Given the description of an element on the screen output the (x, y) to click on. 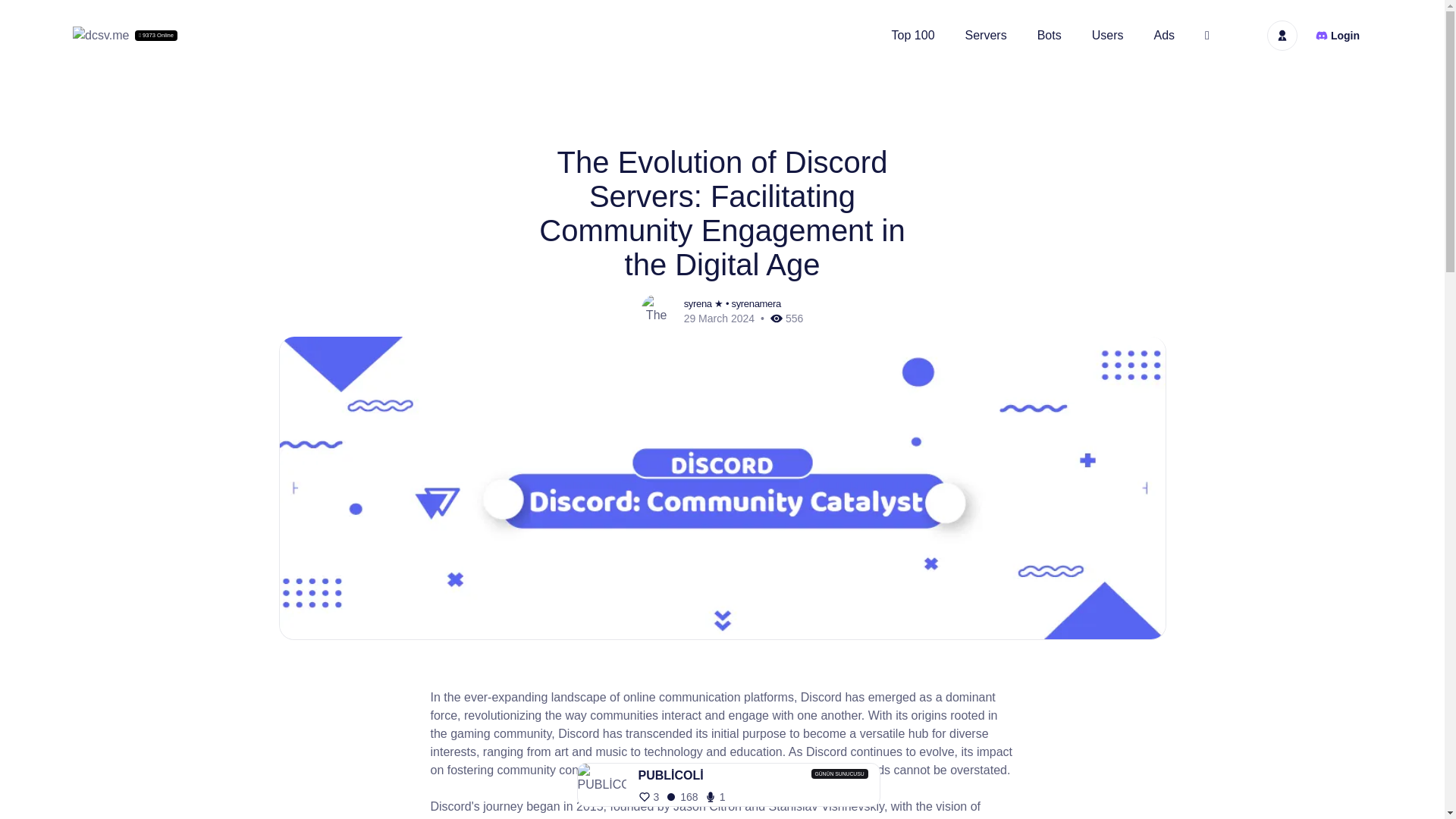
Servers (986, 35)
Bots (1049, 35)
Top 100 (913, 35)
